Given the description of an element on the screen output the (x, y) to click on. 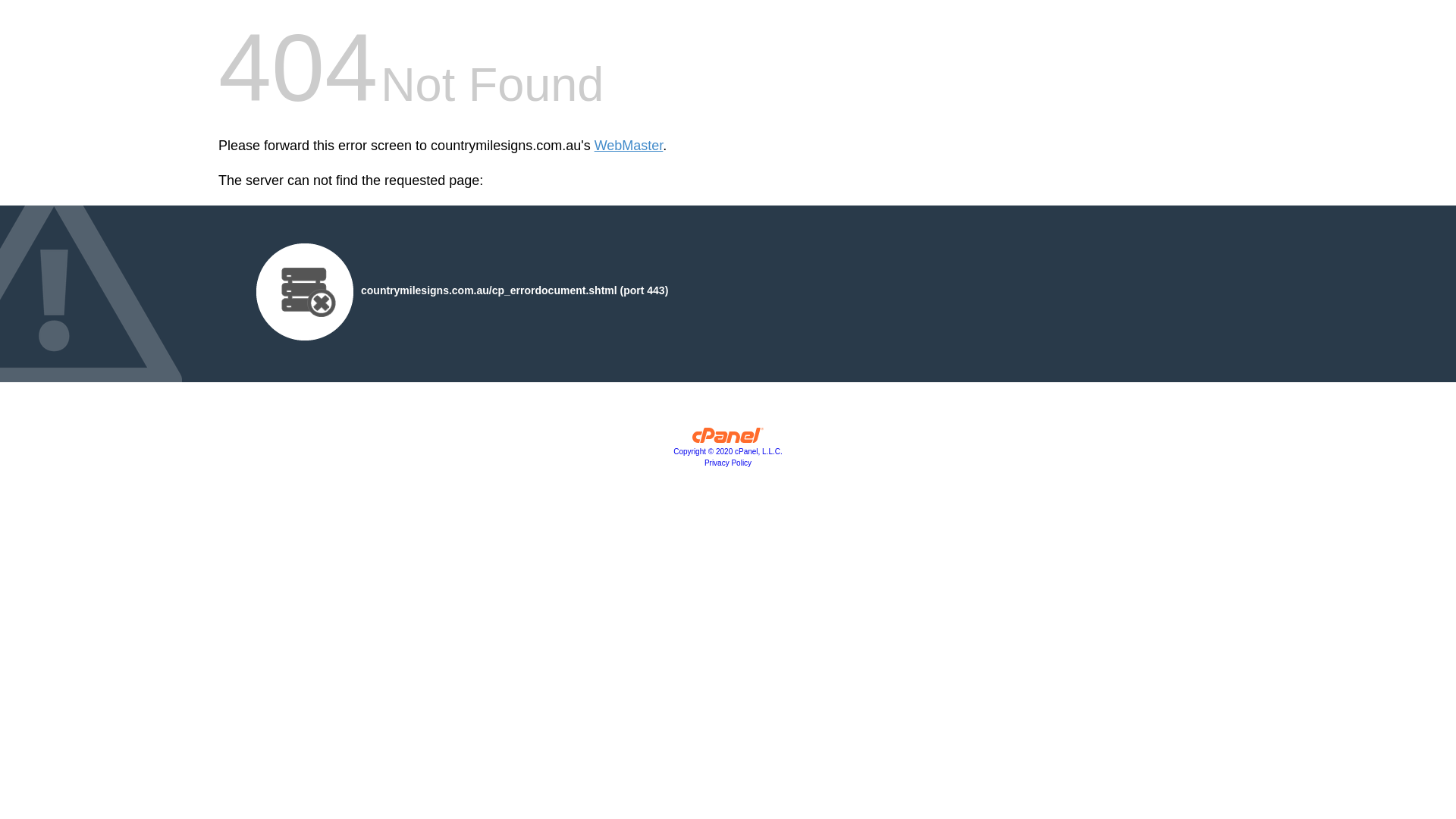
cPanel, Inc. Element type: hover (728, 439)
Privacy Policy Element type: text (727, 462)
WebMaster Element type: text (628, 145)
